Given the description of an element on the screen output the (x, y) to click on. 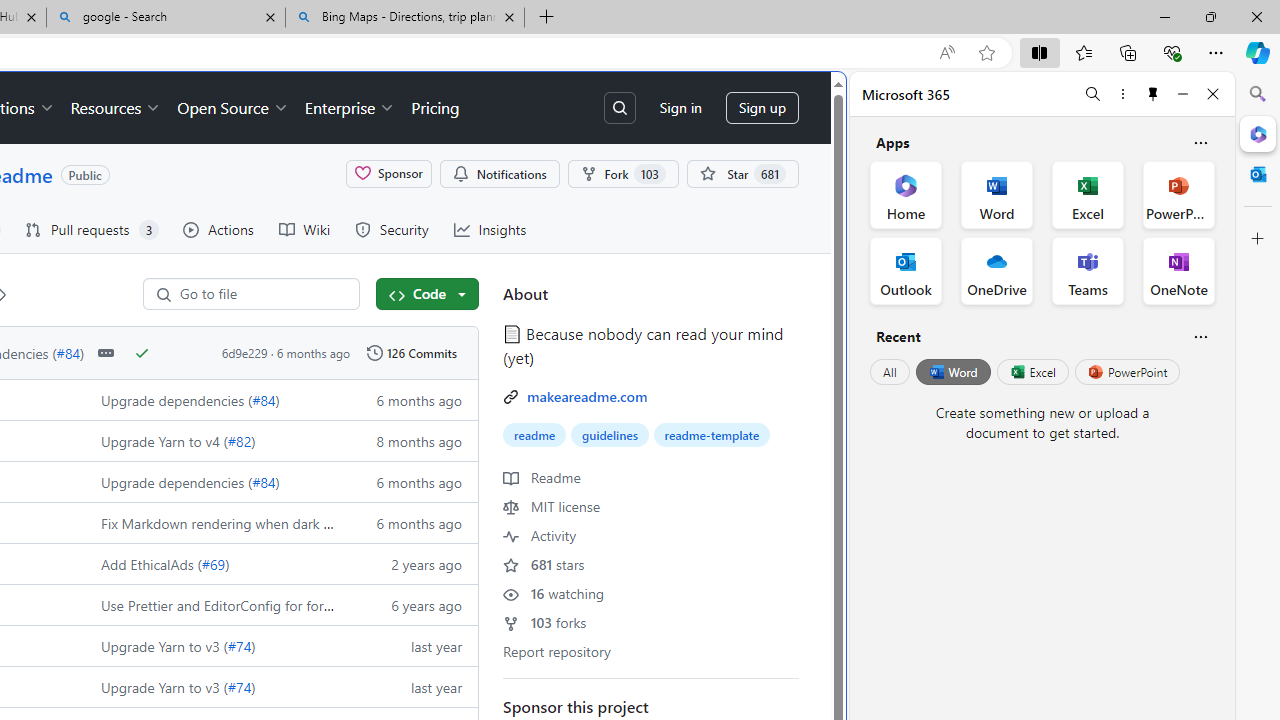
Commit 6d9e229 (244, 353)
Fix Markdown rendering when dark mode is on (#85) (212, 521)
) (253, 686)
103 forks (545, 622)
6 months ago (409, 521)
Security (391, 229)
16 watching (554, 593)
Add EthicalAds (#69) (212, 562)
Excel Office App (1087, 194)
126 Commits (411, 353)
OneNote Office App (1178, 270)
Home Office App (906, 194)
